Given the description of an element on the screen output the (x, y) to click on. 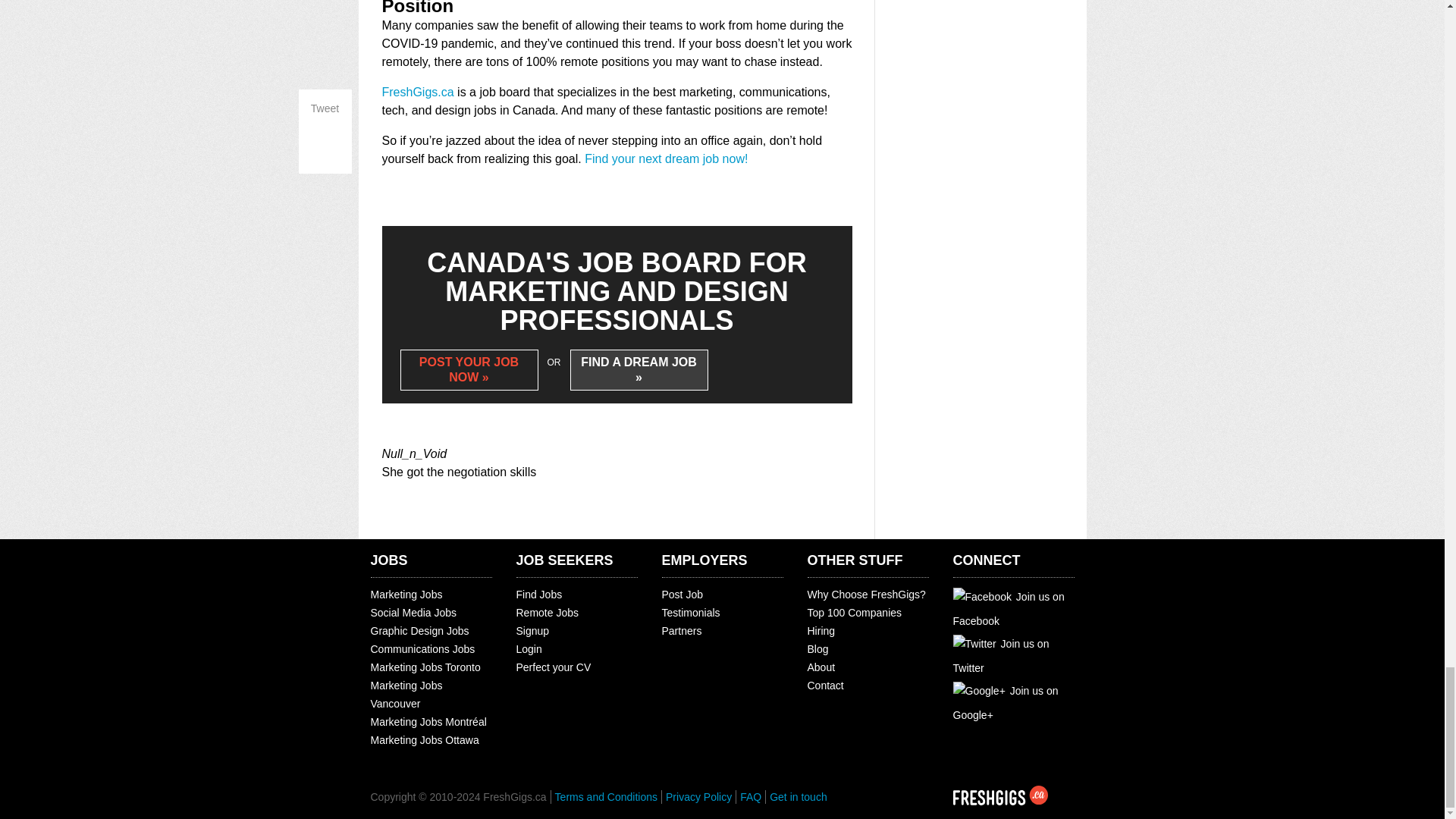
Social Media Jobs (413, 612)
FreshGigs.ca (417, 91)
Marketing Jobs Toronto (424, 666)
JOBS (388, 560)
Graphic Design Jobs (418, 630)
Find your next dream job now! (666, 158)
Communications Jobs (421, 648)
Marketing Jobs (405, 594)
